Given the description of an element on the screen output the (x, y) to click on. 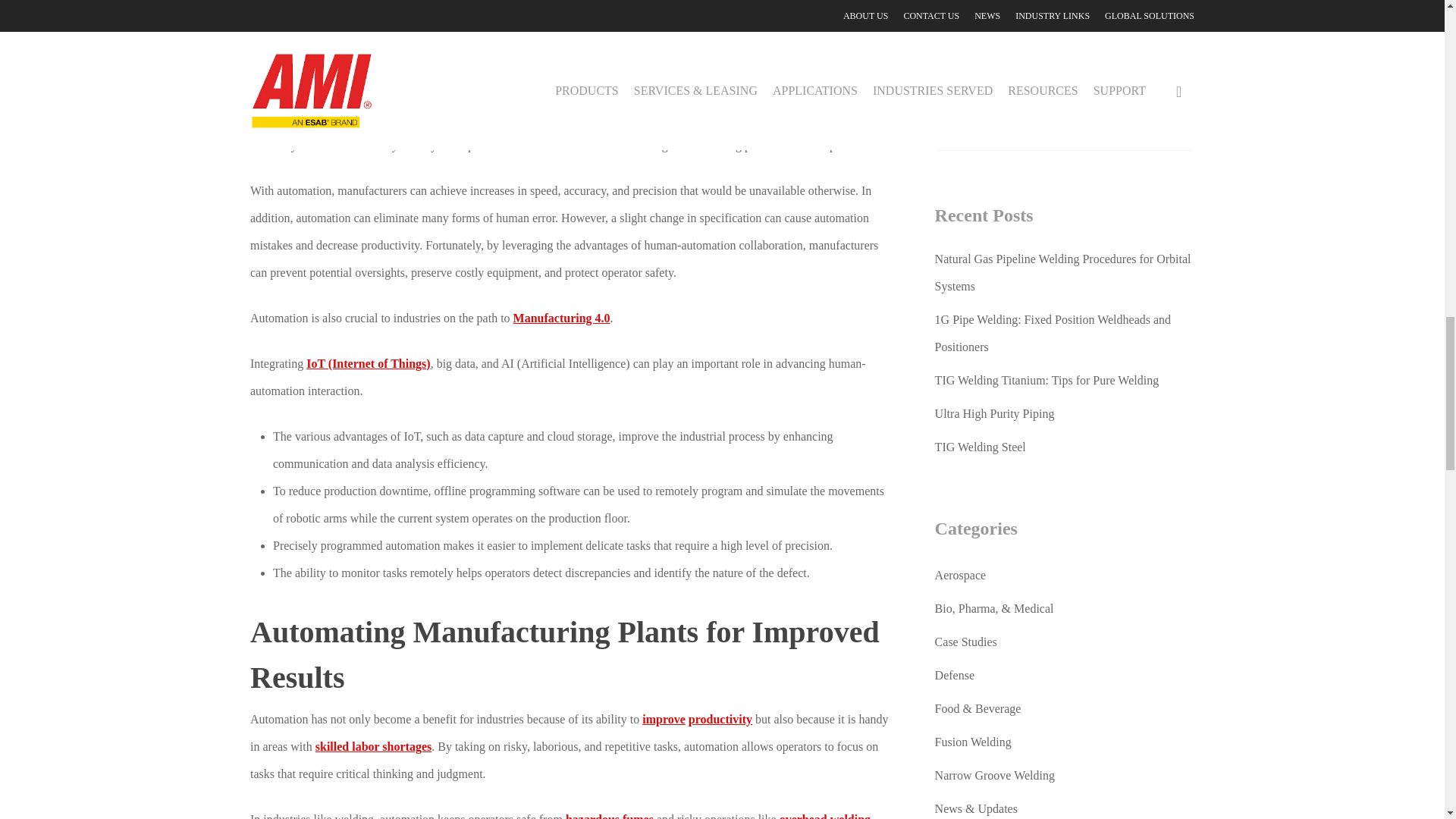
Search for: (1063, 132)
